Given the description of an element on the screen output the (x, y) to click on. 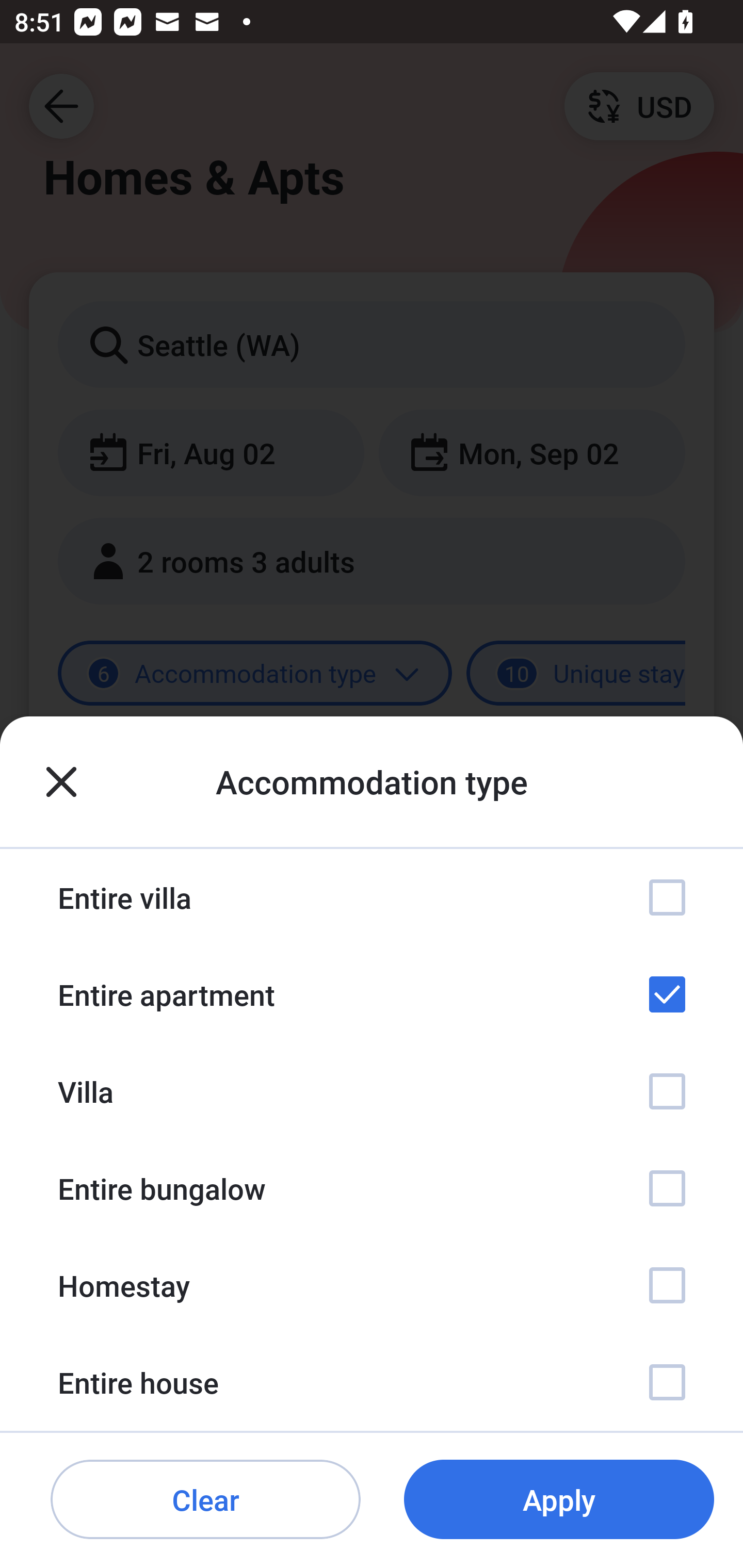
Entire villa (371, 897)
Entire apartment (371, 994)
Villa (371, 1091)
Entire bungalow (371, 1188)
Homestay (371, 1284)
Entire house (371, 1382)
Clear (205, 1499)
Apply (559, 1499)
